Given the description of an element on the screen output the (x, y) to click on. 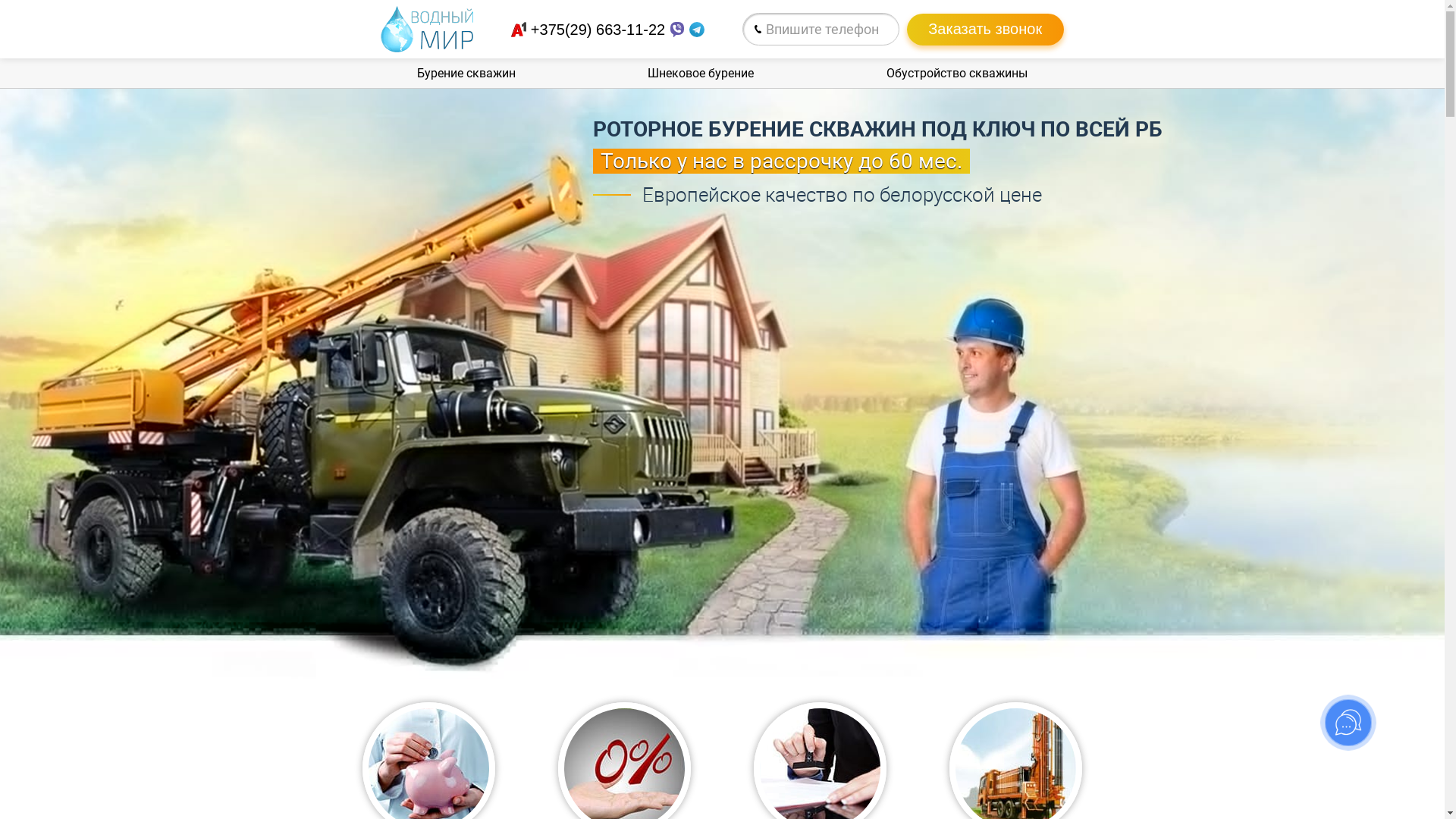
+375(29) 663-11-22 Element type: text (597, 29)
